Given the description of an element on the screen output the (x, y) to click on. 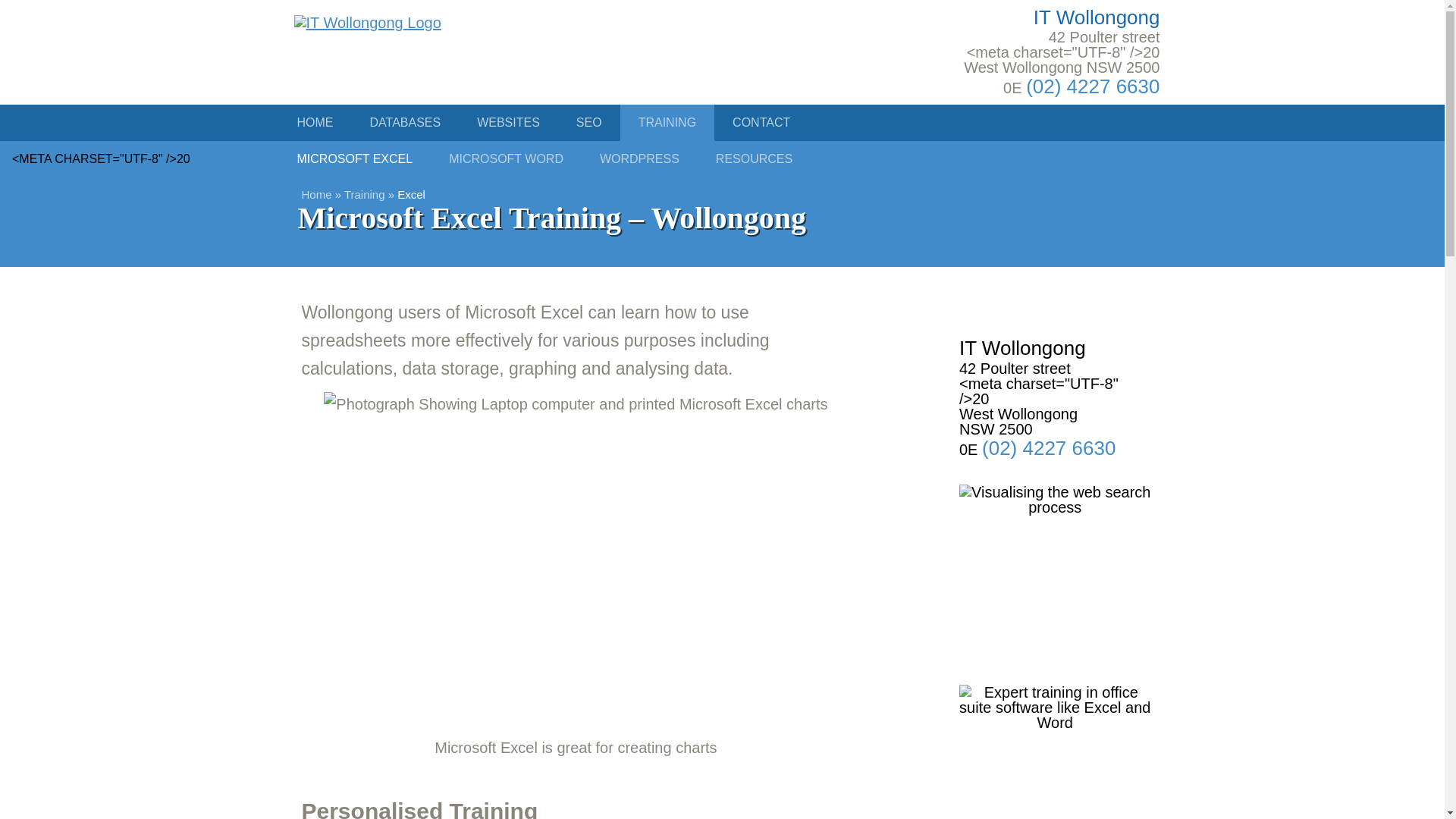
WEBSITES (507, 122)
WORDPRESS (592, 158)
Home (316, 194)
DESIGN CHECKLIST (457, 158)
WORDPRESS (638, 158)
PACKAGES (330, 158)
DATABASES (406, 122)
WORDPRESS DEVELOPER (747, 158)
GUIDE (745, 158)
COPYWRITING (562, 158)
RESOURCES (753, 158)
HOSTING (1021, 158)
HOME (315, 122)
CONTACT (761, 122)
MICROSOFT EXCEL (354, 158)
